Given the description of an element on the screen output the (x, y) to click on. 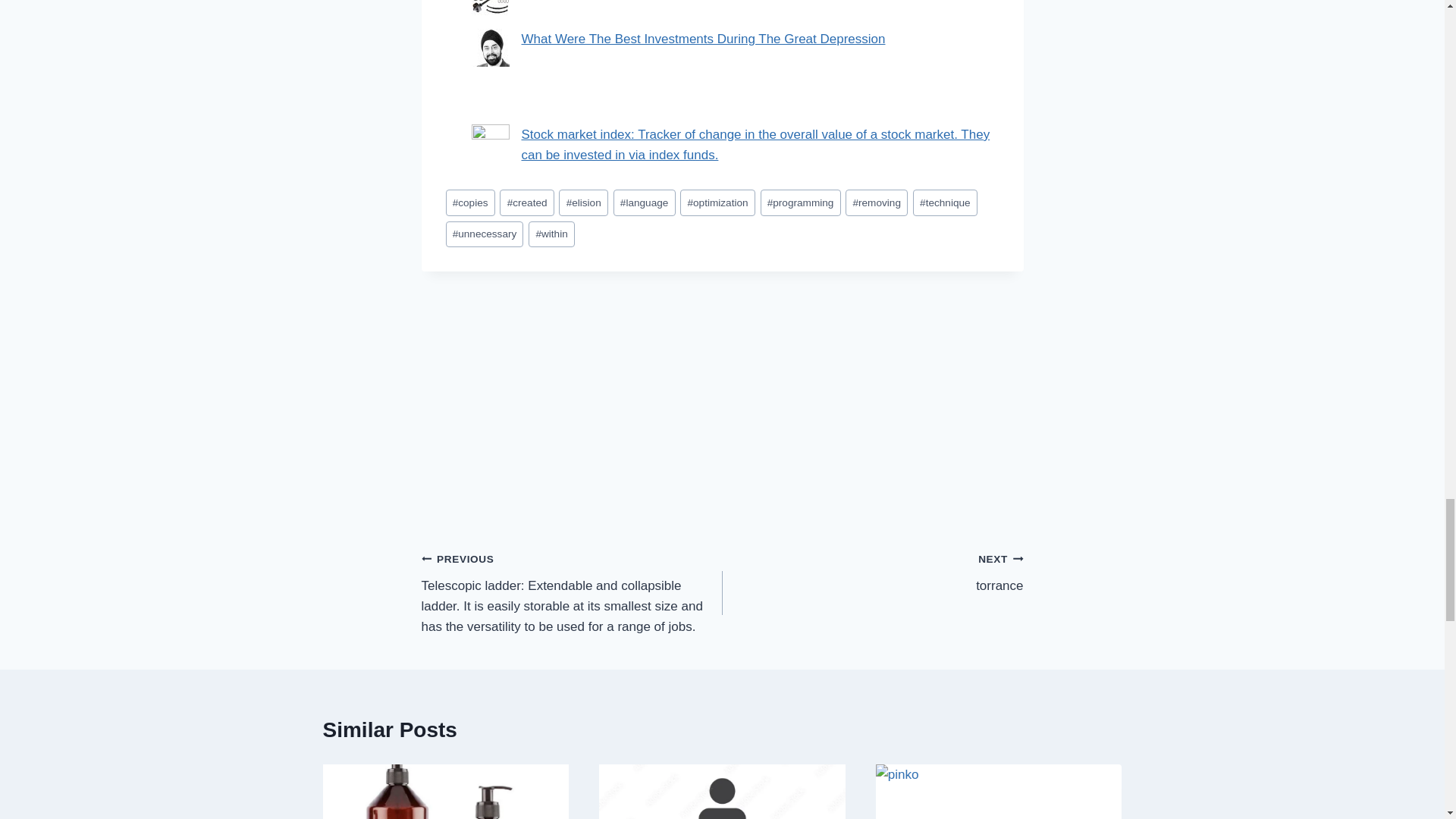
unnecessary (484, 234)
language (643, 202)
created (526, 202)
within (551, 234)
copies (470, 202)
elision (583, 202)
technique (944, 202)
optimization (716, 202)
programming (800, 202)
removing (876, 202)
